Given the description of an element on the screen output the (x, y) to click on. 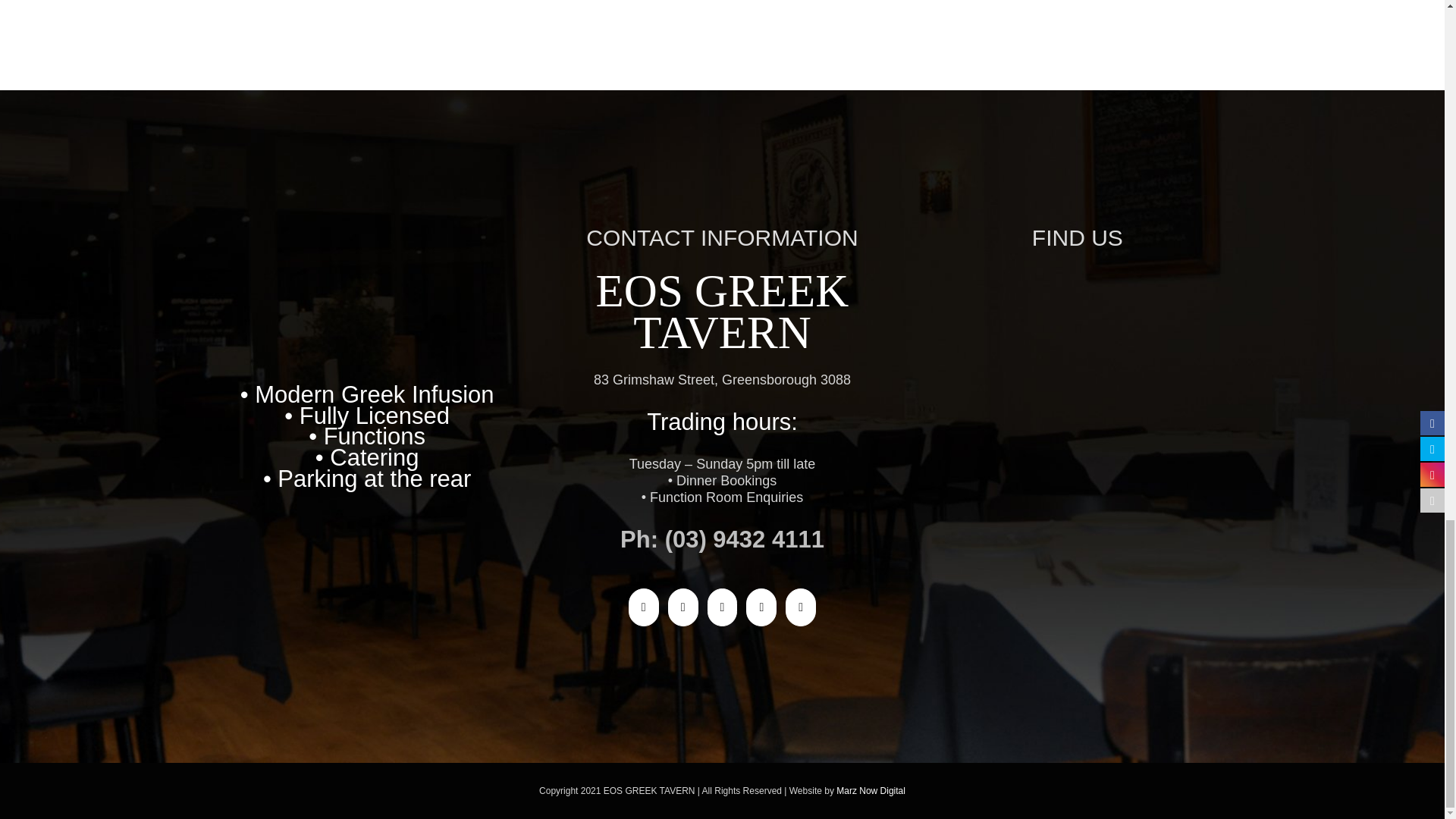
Marz Now Digital (870, 790)
